Given the description of an element on the screen output the (x, y) to click on. 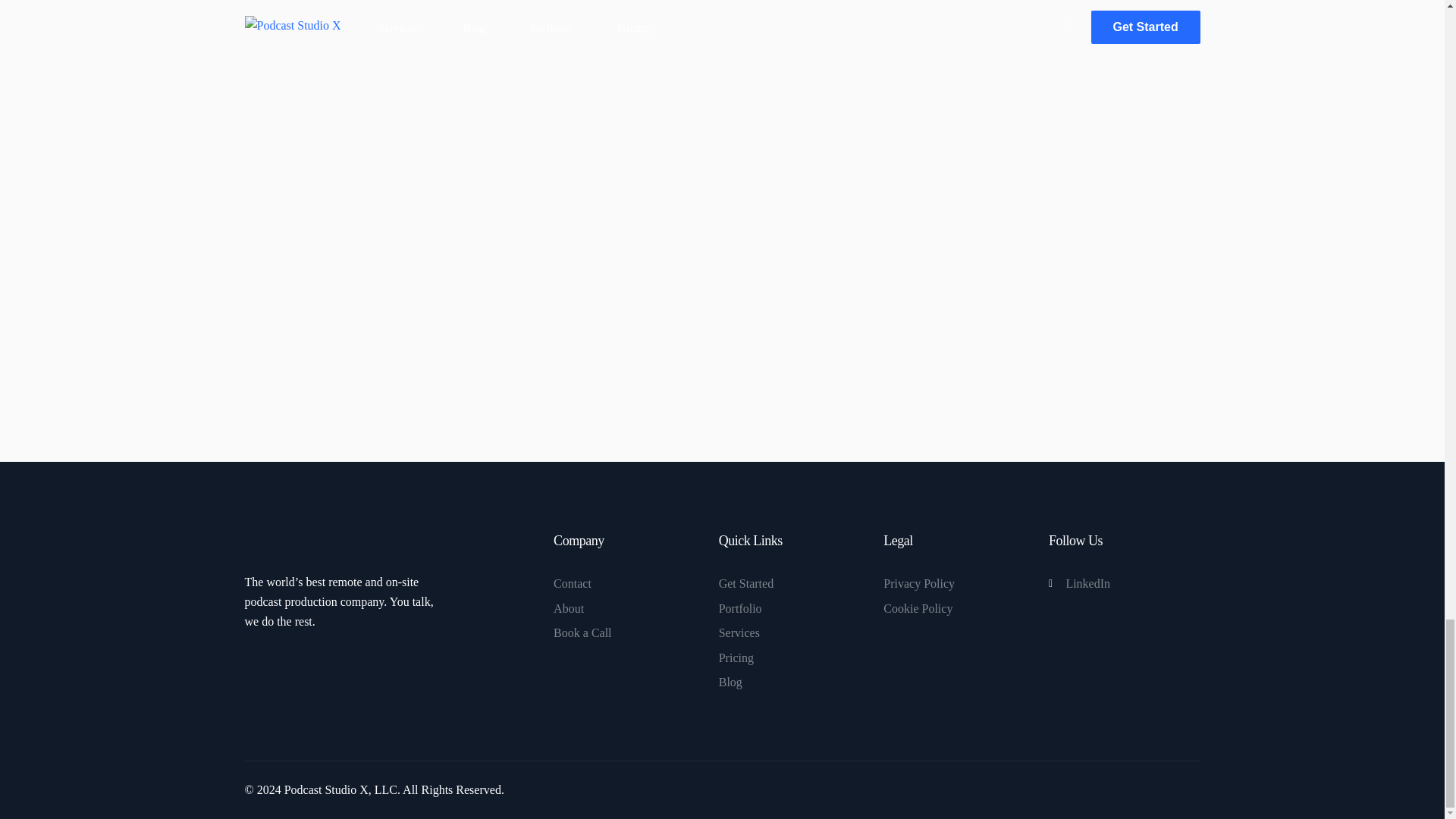
Book a Call (628, 632)
Get Started (794, 583)
Privacy Policy (958, 583)
Pricing (794, 658)
Services (794, 632)
About (628, 608)
Portfolio (794, 608)
Contact (628, 583)
Blog (794, 682)
LinkedIn (1123, 583)
